Given the description of an element on the screen output the (x, y) to click on. 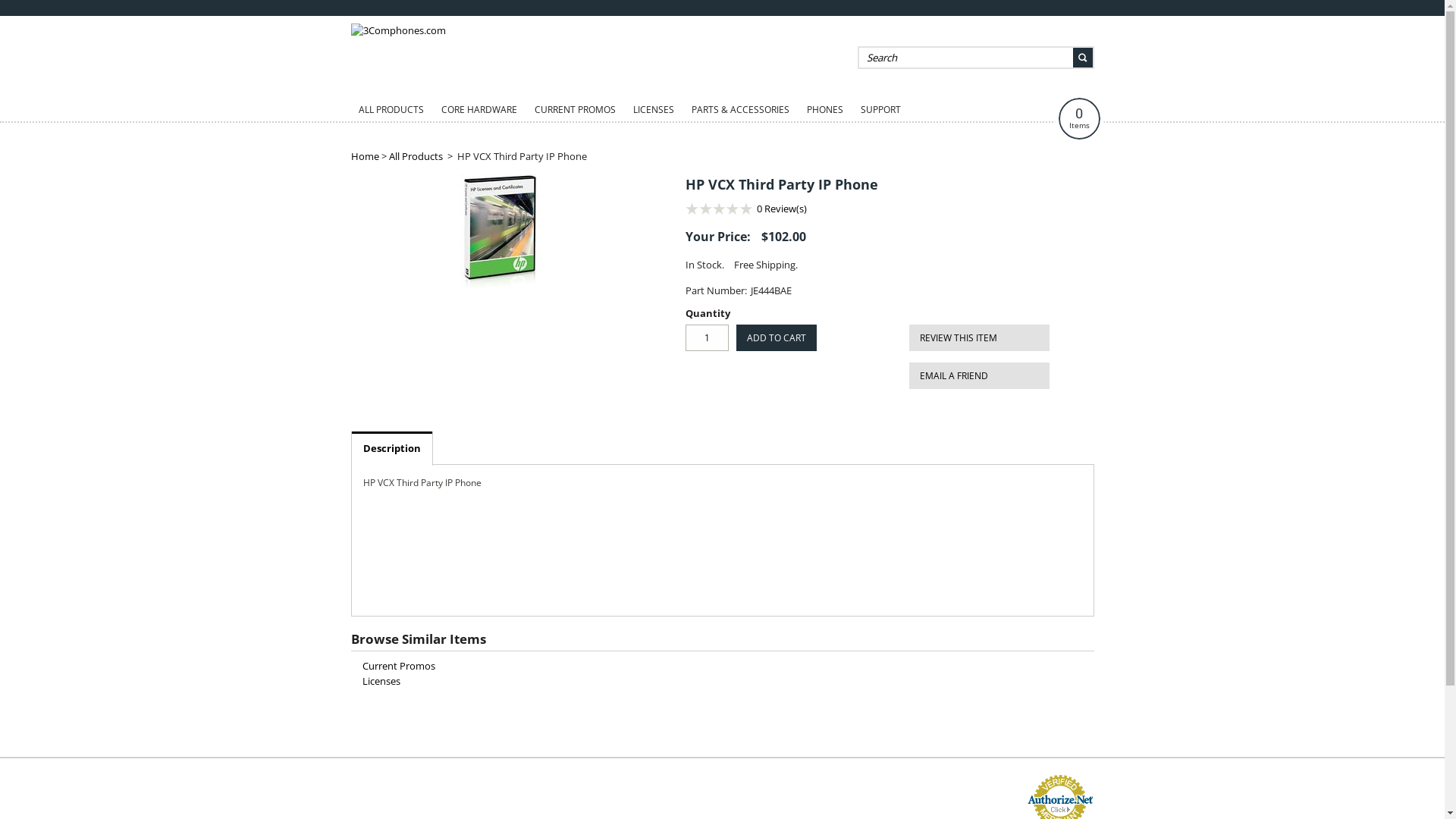
ALL PRODUCTS Element type: text (390, 109)
Description Element type: text (391, 447)
PARTS & ACCESSORIES Element type: text (740, 109)
Home Element type: text (364, 156)
REVIEW THIS ITEM Element type: text (978, 337)
CORE HARDWARE Element type: text (478, 109)
EMAIL A FRIEND Element type: text (978, 375)
PHONES Element type: text (824, 109)
Licenses Element type: text (381, 680)
0
Items Element type: text (1079, 118)
CURRENT PROMOS Element type: text (574, 109)
All Products Element type: text (415, 156)
LICENSES Element type: text (652, 109)
0 Review(s) Element type: text (781, 208)
ADD TO CART Element type: text (775, 337)
home Element type: text (397, 30)
SUPPORT Element type: text (879, 109)
Current Promos Element type: text (398, 665)
